Given the description of an element on the screen output the (x, y) to click on. 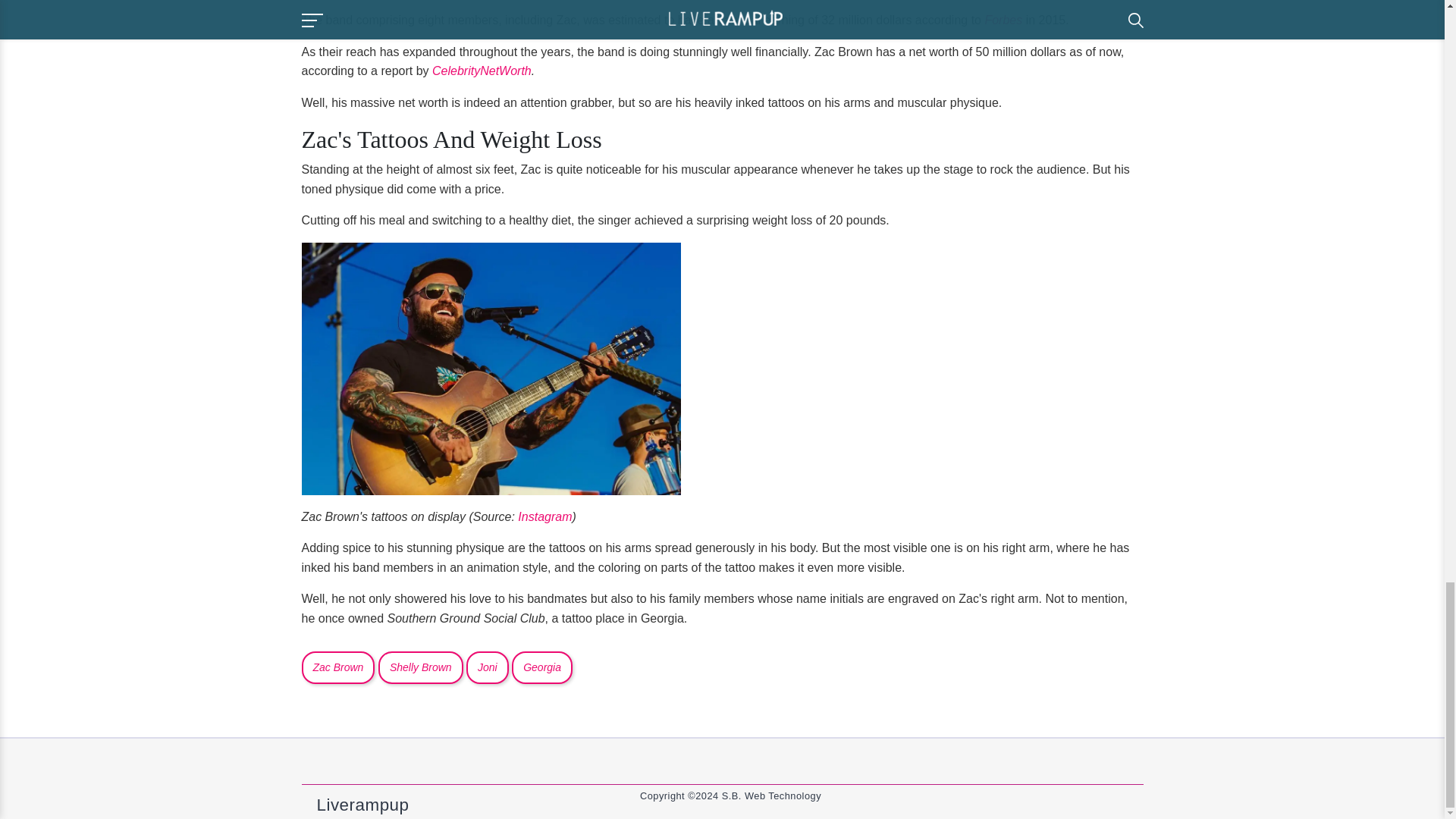
Forbes (1004, 19)
